Given the description of an element on the screen output the (x, y) to click on. 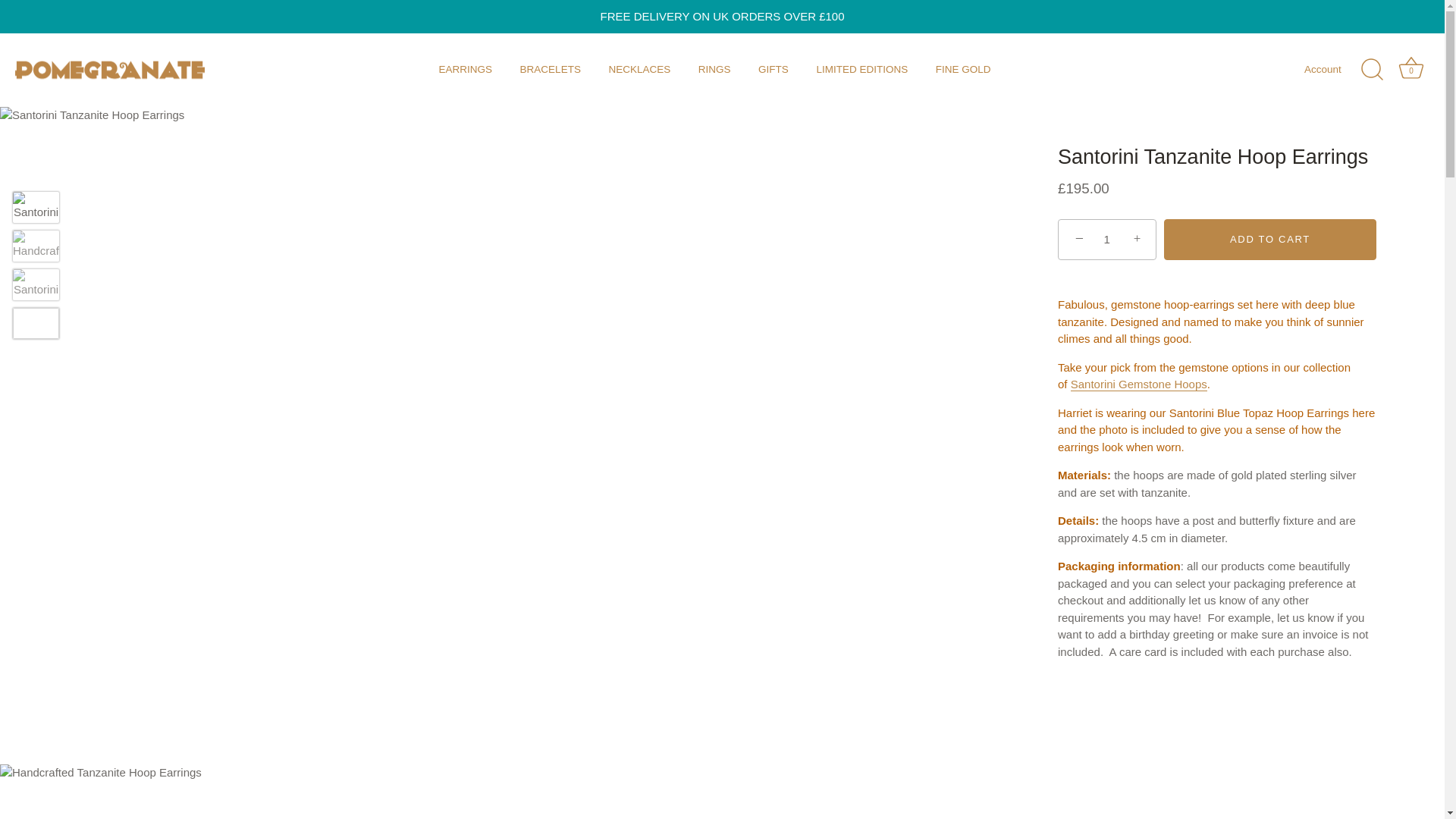
Pomegranate Santorini Gemstone Hoop Earrings (1138, 384)
GIFTS (772, 69)
BRACELETS (549, 69)
Basket (1410, 68)
NECKLACES (638, 69)
RINGS (713, 69)
EARRINGS (464, 69)
